Given the description of an element on the screen output the (x, y) to click on. 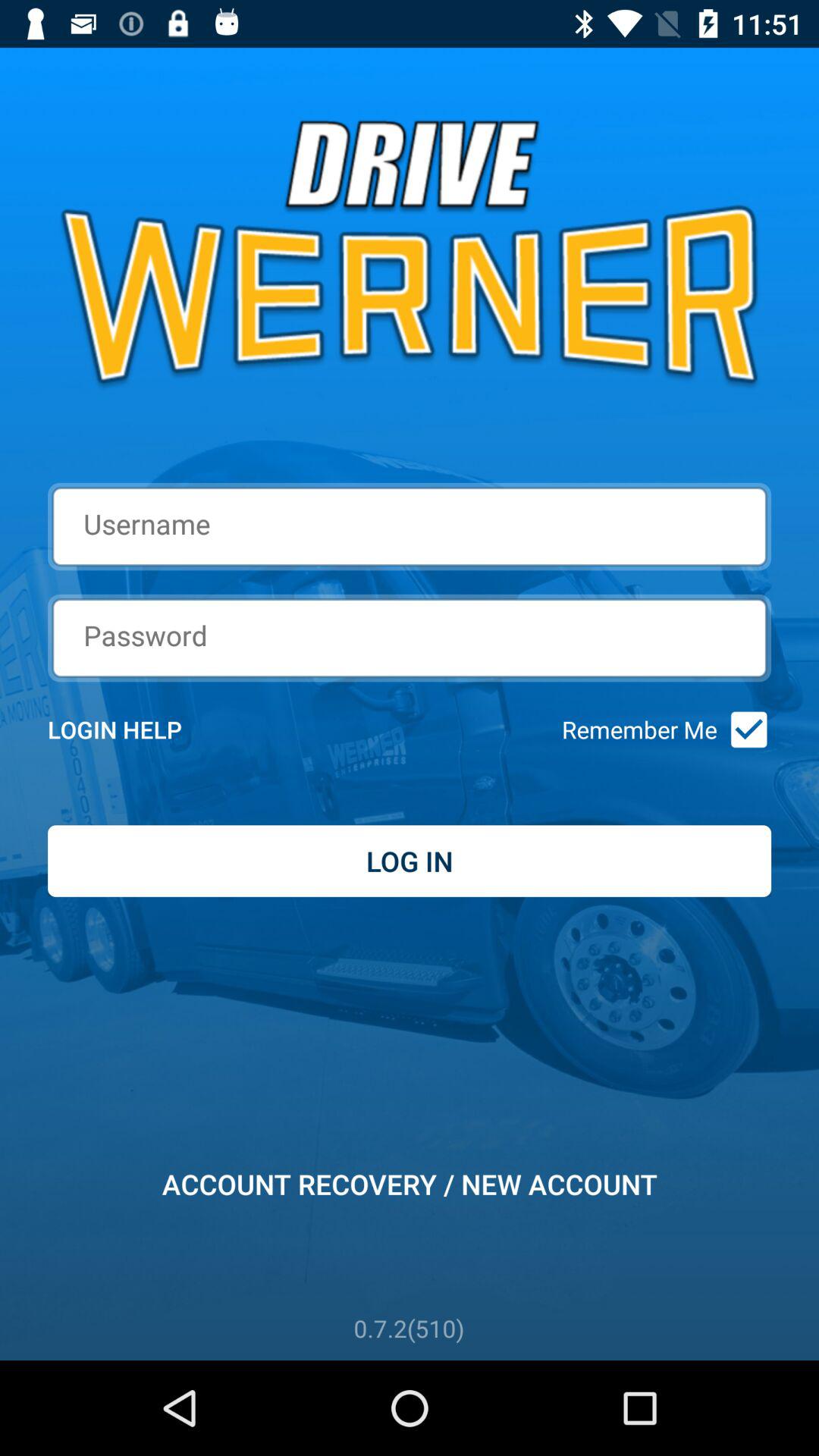
press login help icon (134, 729)
